Given the description of an element on the screen output the (x, y) to click on. 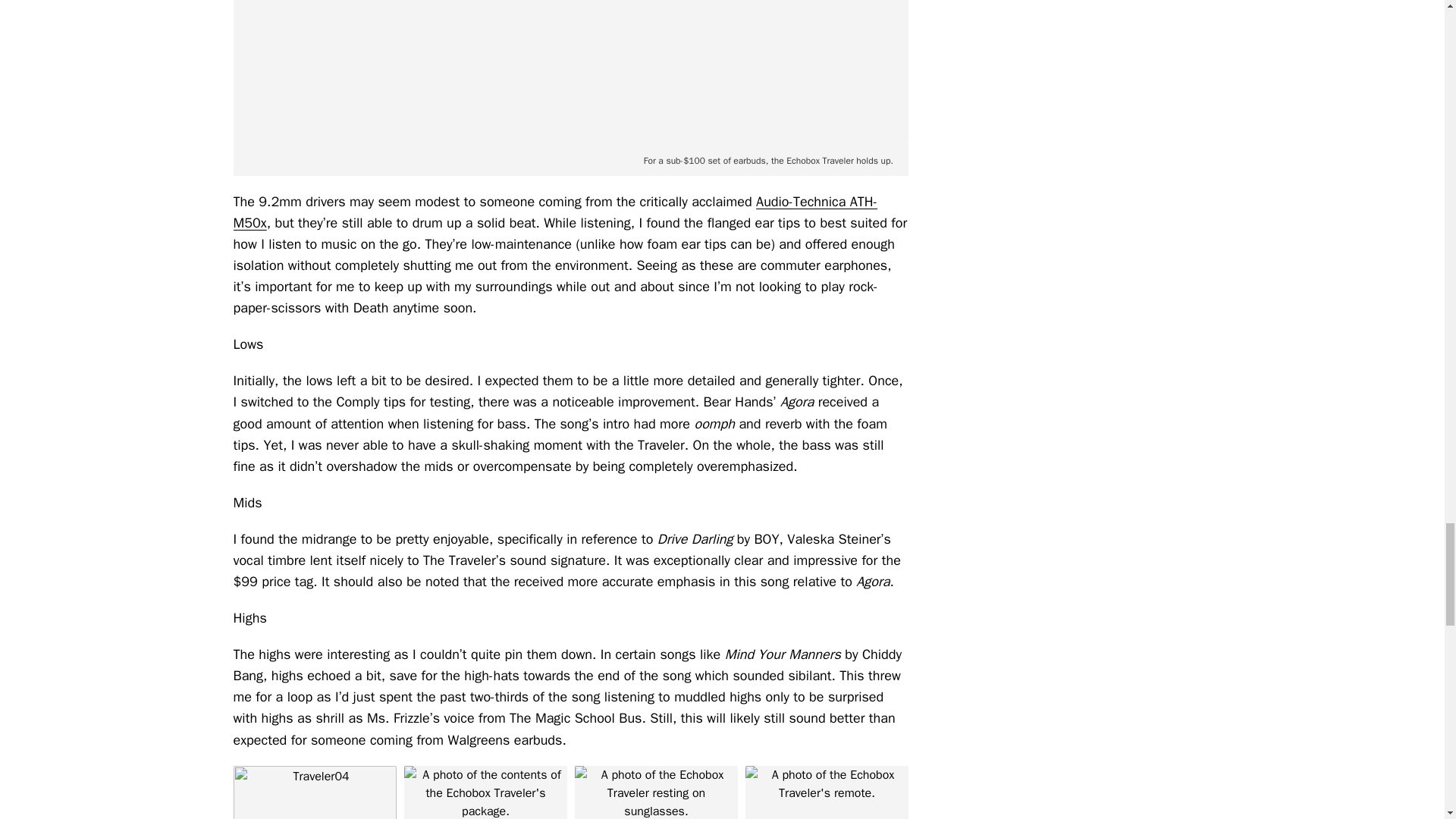
Traveler05 (656, 792)
Traveler04 (314, 792)
Traveler02 (825, 792)
Traveler05 (570, 72)
Audio-Technica ATH-M50x (554, 211)
Traveler01 (484, 792)
